Given the description of an element on the screen output the (x, y) to click on. 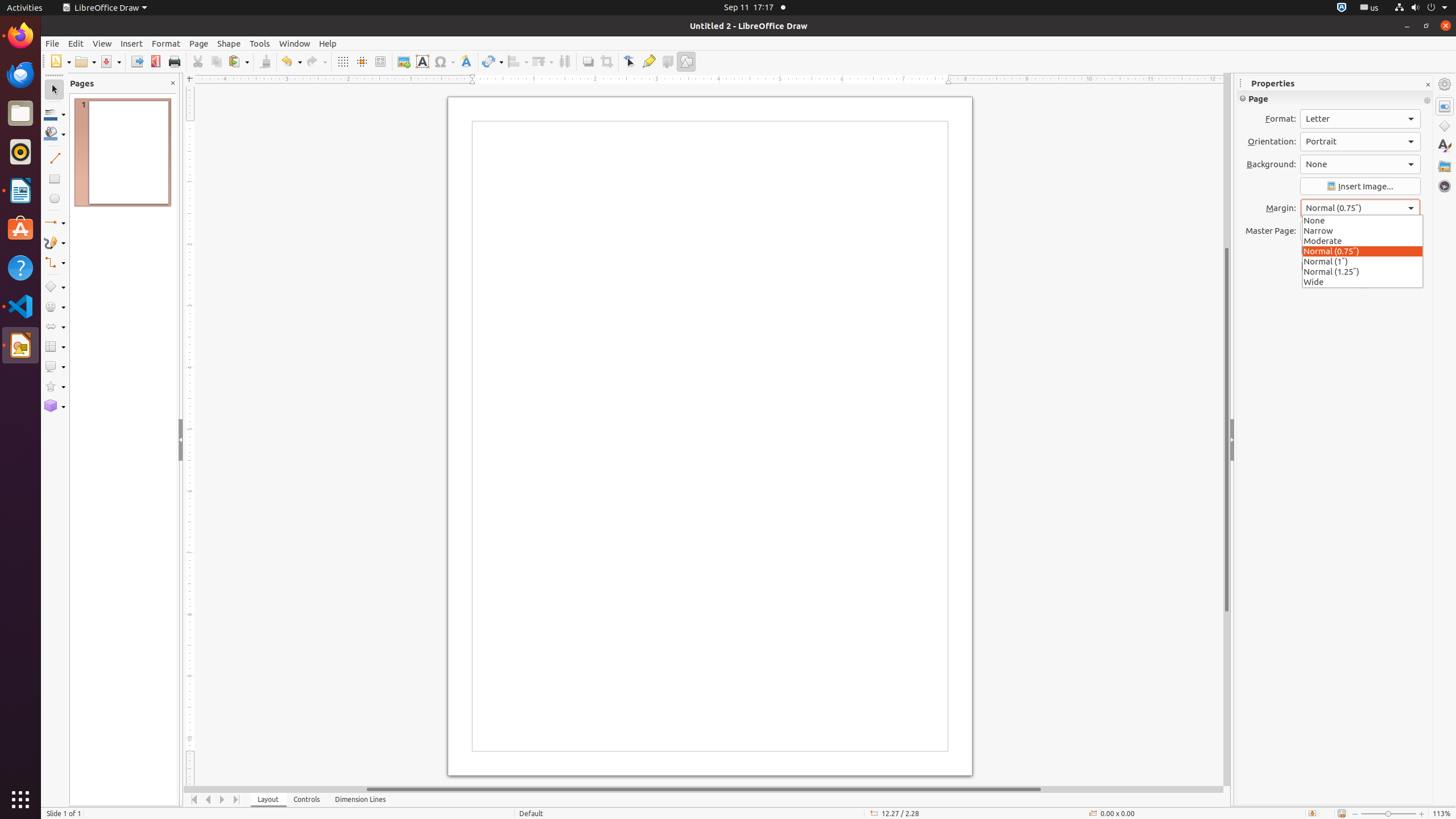
LibreOffice Draw Element type: push-button (20, 344)
Properties Element type: radio-button (1444, 106)
:1.72/StatusNotifierItem Element type: menu (1341, 7)
Rhythmbox Element type: push-button (20, 151)
Symbol Shapes Element type: push-button (54, 306)
